Given the description of an element on the screen output the (x, y) to click on. 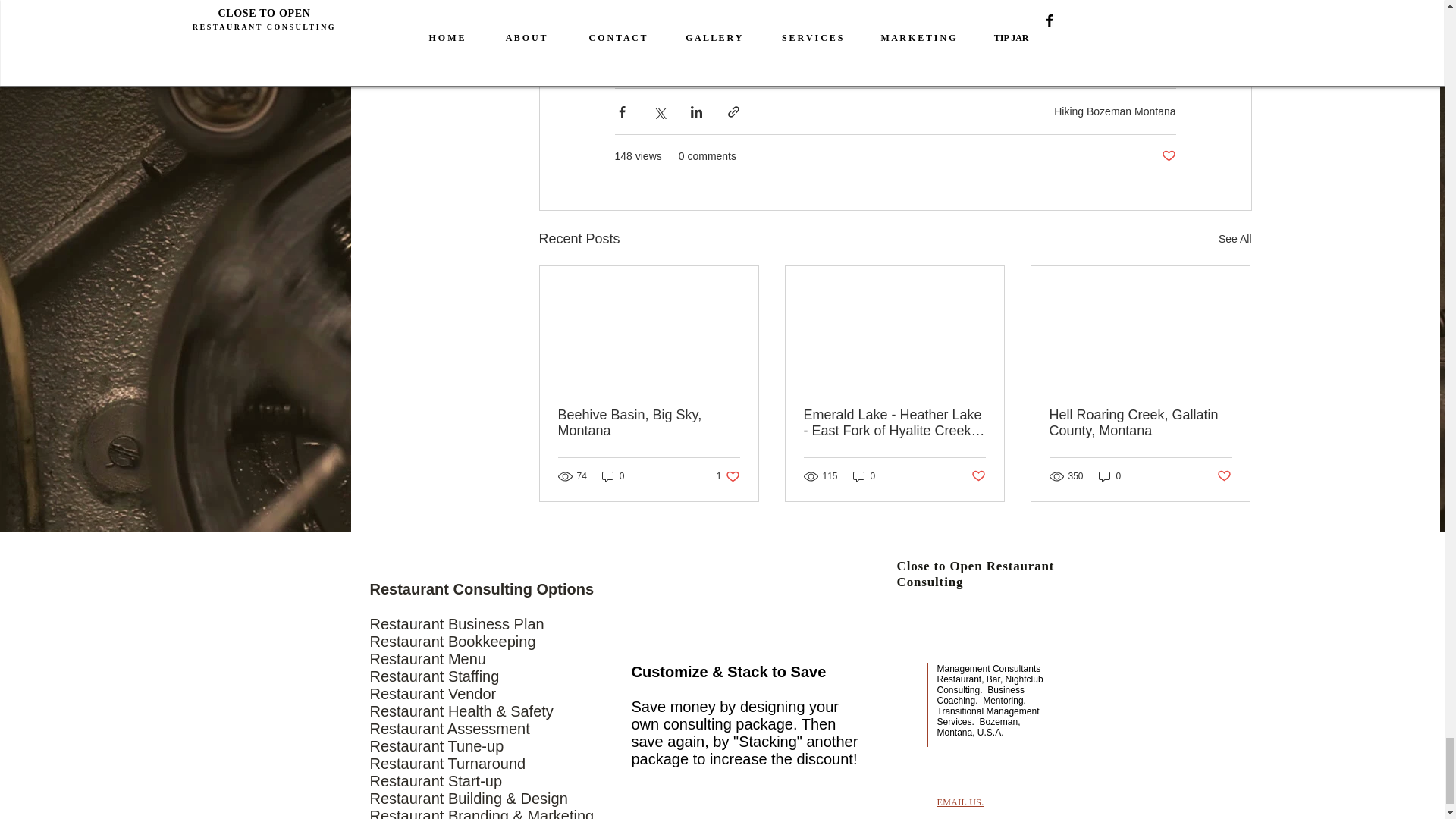
Post not marked as liked (978, 476)
0 (1109, 476)
0 (612, 476)
EMAIL US. (727, 476)
Post not marked as liked (960, 801)
Hiking Bozeman Montana (1222, 476)
Hell Roaring Creek, Gallatin County, Montana (1114, 111)
Beehive Basin, Big Sky, Montana (1140, 422)
